Given the description of an element on the screen output the (x, y) to click on. 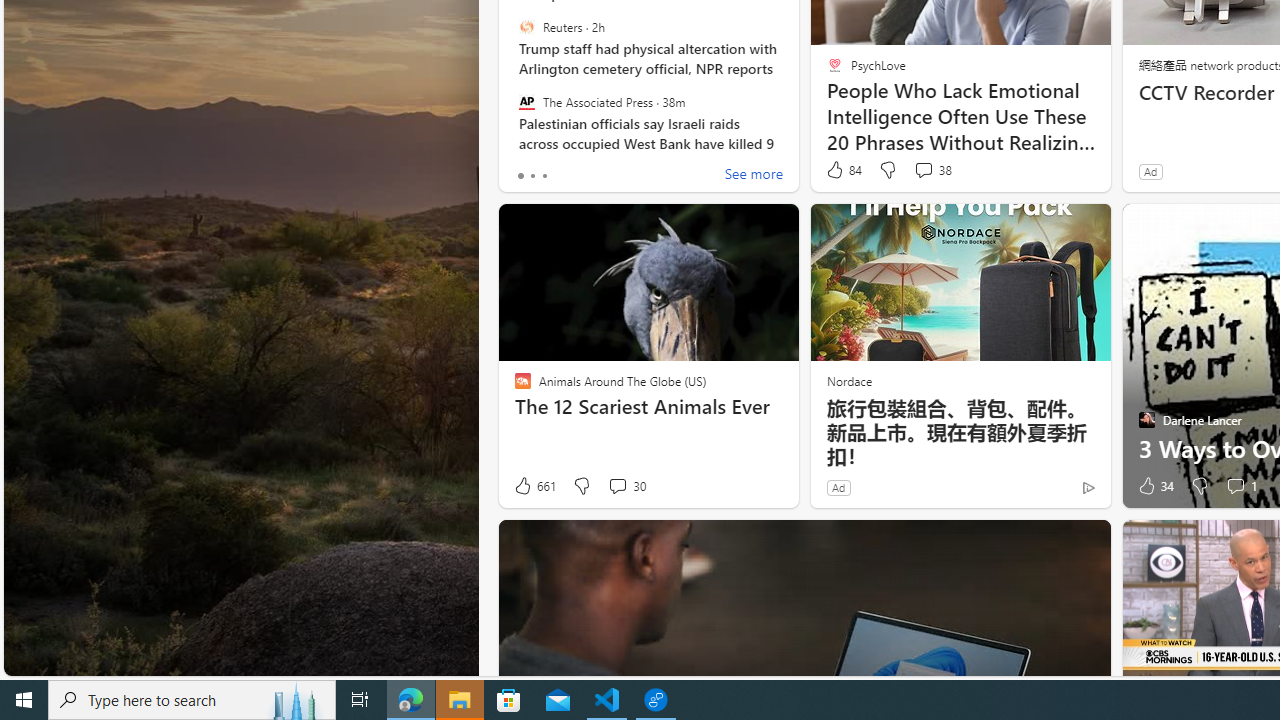
661 Like (534, 485)
View comments 38 Comment (932, 170)
The Associated Press (526, 101)
84 Like (843, 170)
View comments 1 Comment (1234, 485)
34 Like (1154, 485)
